Given the description of an element on the screen output the (x, y) to click on. 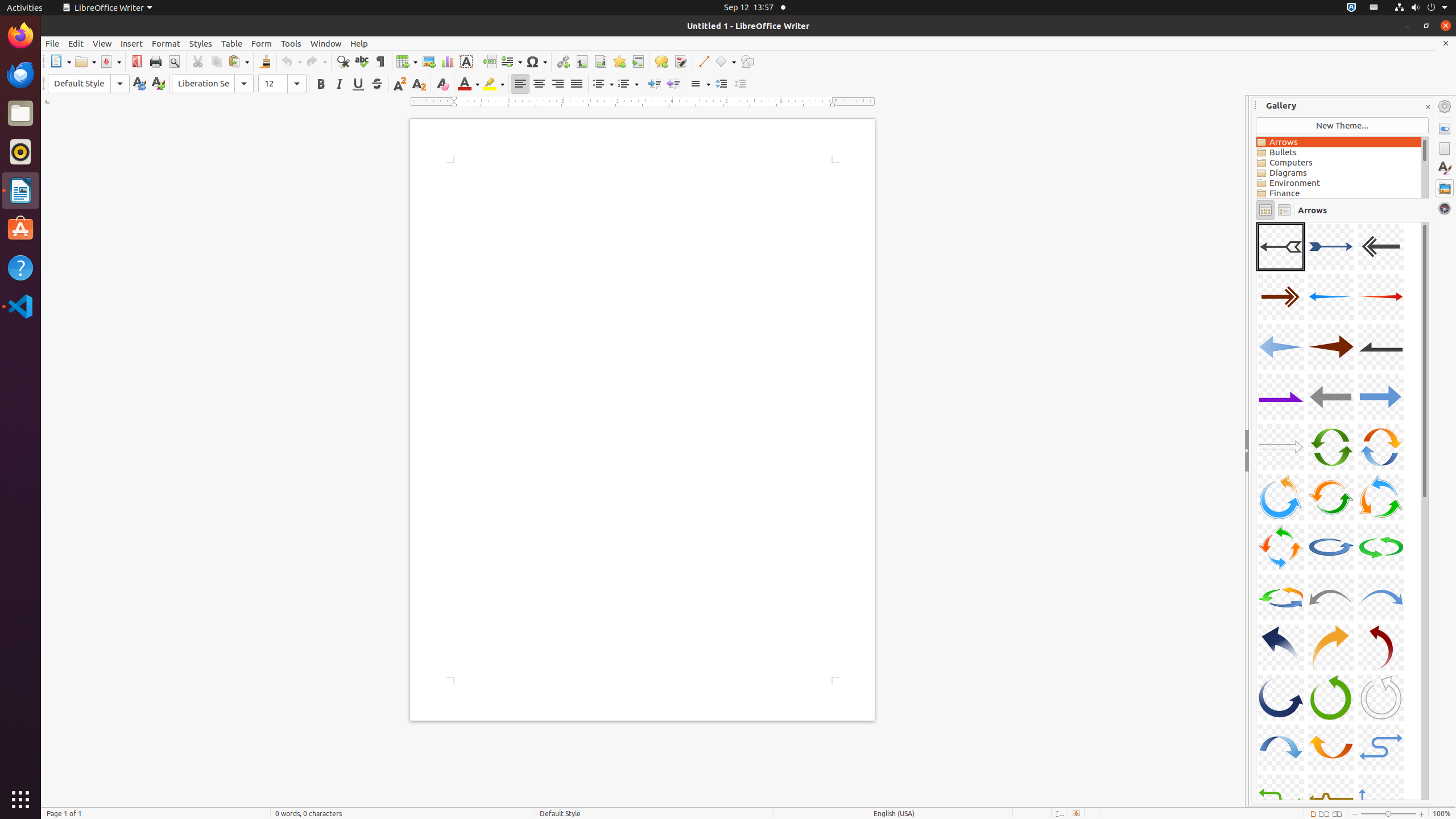
Window Element type: menu (325, 43)
Copy Element type: push-button (216, 61)
A12-Arrow-LightBlue-Right Element type: list-item (1380, 396)
A24-CurvedArrow-LightBlue-Right Element type: list-item (1380, 596)
Format Element type: menu (165, 43)
